Given the description of an element on the screen output the (x, y) to click on. 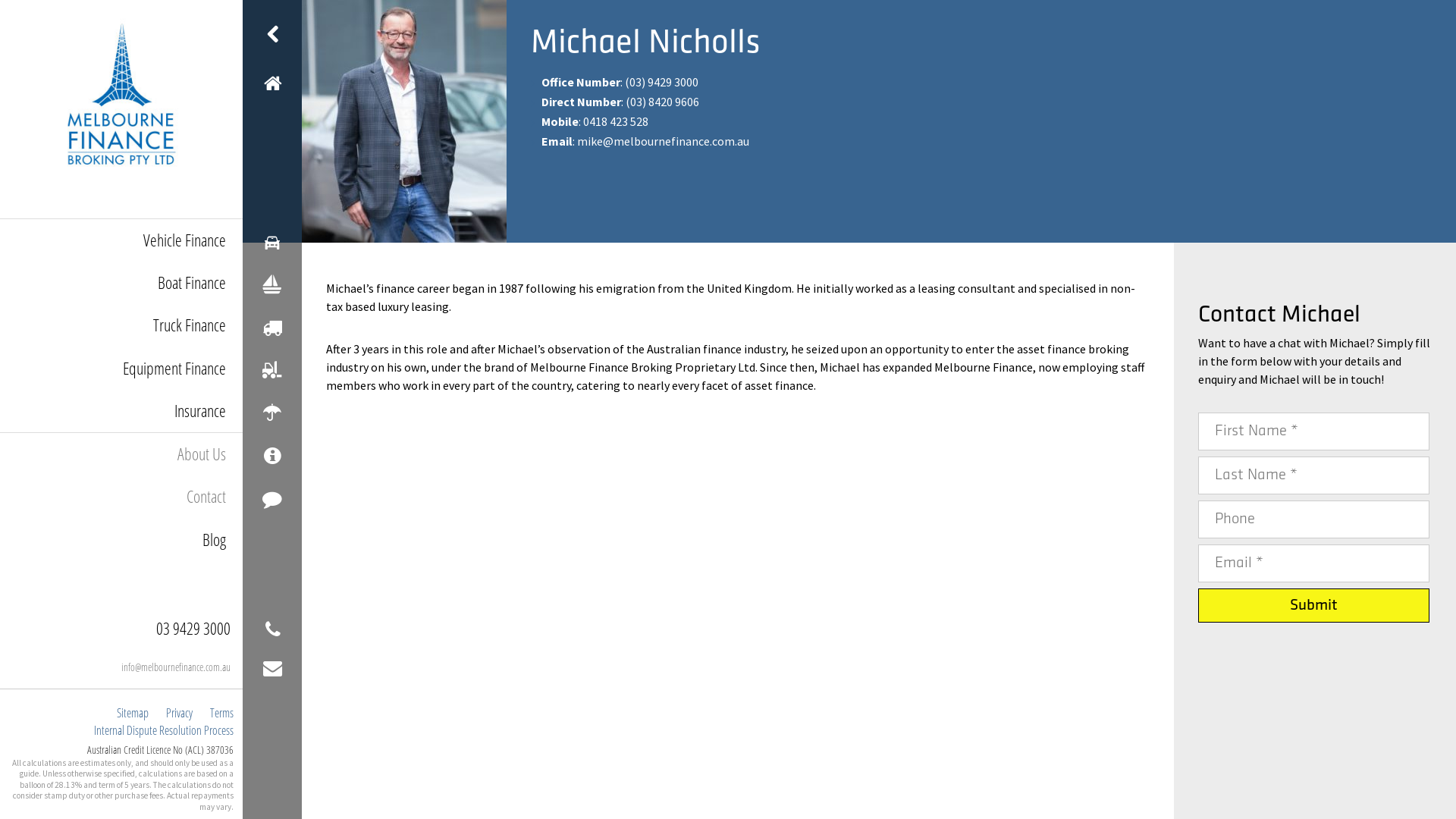
Terms Element type: text (221, 712)
mike@melbournefinance.com.au Element type: text (663, 140)
Submit Element type: text (1313, 605)
03 9429 3000 Element type: text (121, 628)
Equipment Finance Element type: text (121, 368)
About Us Element type: text (121, 453)
Sitemap Element type: text (132, 712)
Truck Finance Element type: text (121, 325)
Internal Dispute Resolution Process Element type: text (163, 729)
0418 423 528 Element type: text (615, 120)
Blog Element type: text (121, 539)
Insurance Element type: text (121, 410)
Privacy Element type: text (179, 712)
info@melbournefinance.com.au Element type: text (121, 666)
Vehicle Finance Element type: text (121, 239)
Boat Finance Element type: text (121, 282)
(03) 8420 9606 Element type: text (662, 101)
(03) 9429 3000 Element type: text (661, 81)
Contact Element type: text (121, 496)
